Given the description of an element on the screen output the (x, y) to click on. 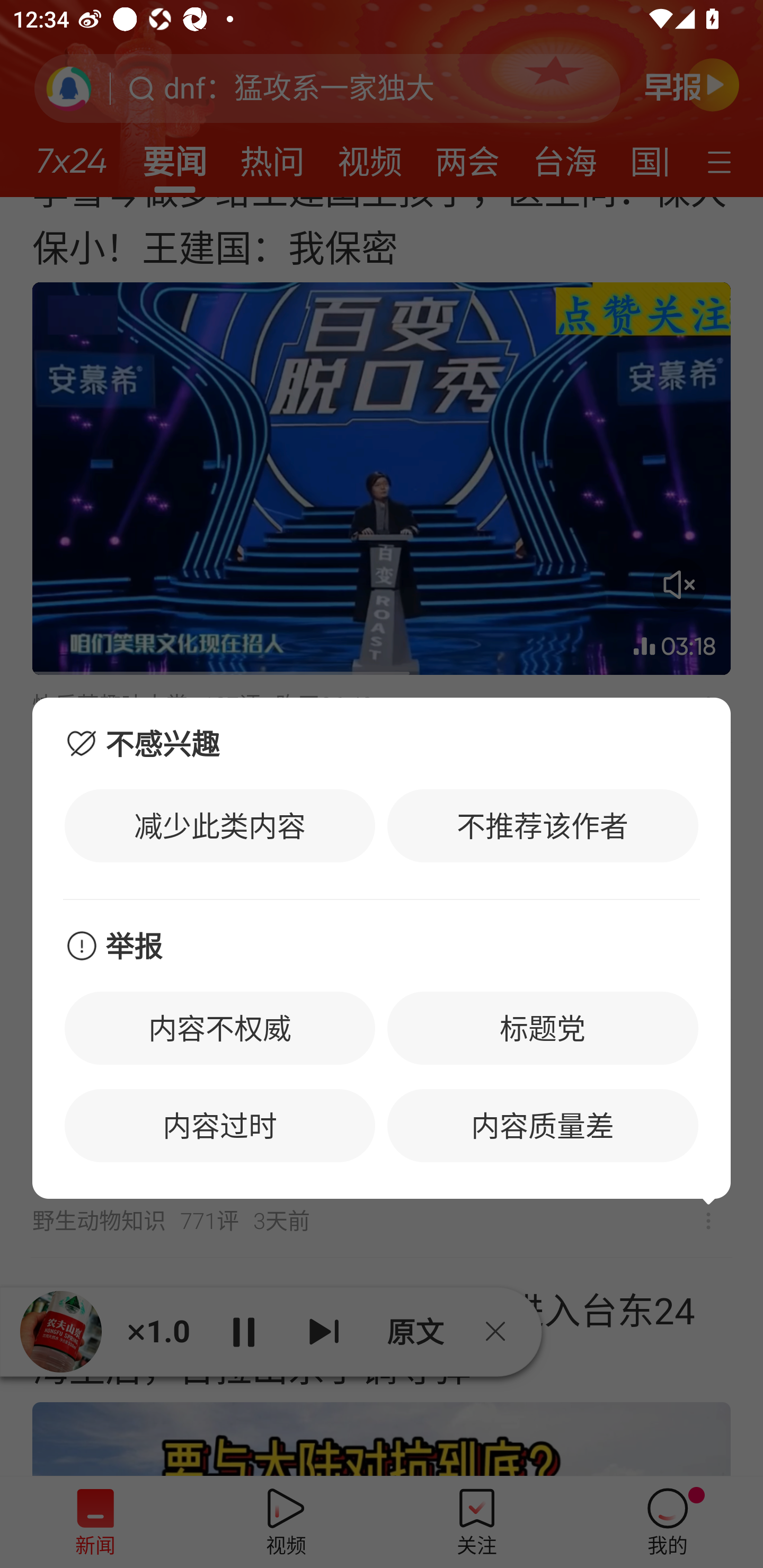
不感兴趣 减少此类内容 不推荐该作者 (381, 797)
减少此类内容 (219, 825)
不推荐该作者 (542, 825)
举报 内容不权威 标题党 内容过时 内容质量差 (381, 1049)
内容不权威 (219, 1027)
标题党 (542, 1027)
内容过时 (219, 1125)
内容质量差 (542, 1125)
